Given the description of an element on the screen output the (x, y) to click on. 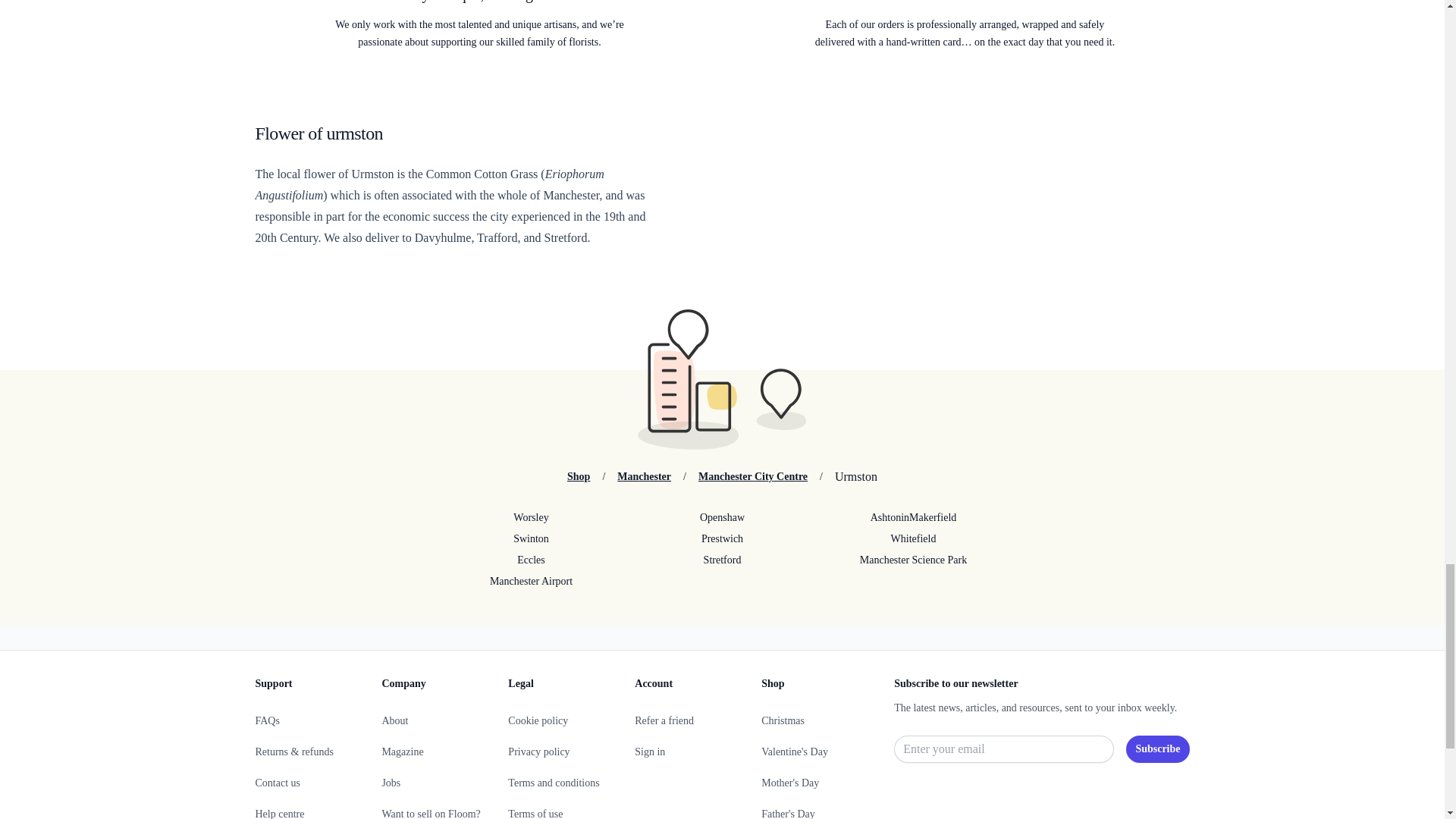
Contact us (276, 782)
About (394, 720)
Openshaw (721, 517)
Swinton (530, 539)
Manchester City Centre (753, 476)
Manchester Science Park (913, 560)
Manchester (644, 476)
Shop (578, 476)
Stretford (721, 560)
Whitefield (913, 539)
Prestwich (721, 539)
FAQs (266, 720)
Manchester Airport (530, 581)
Eccles (530, 560)
Help centre (279, 813)
